Given the description of an element on the screen output the (x, y) to click on. 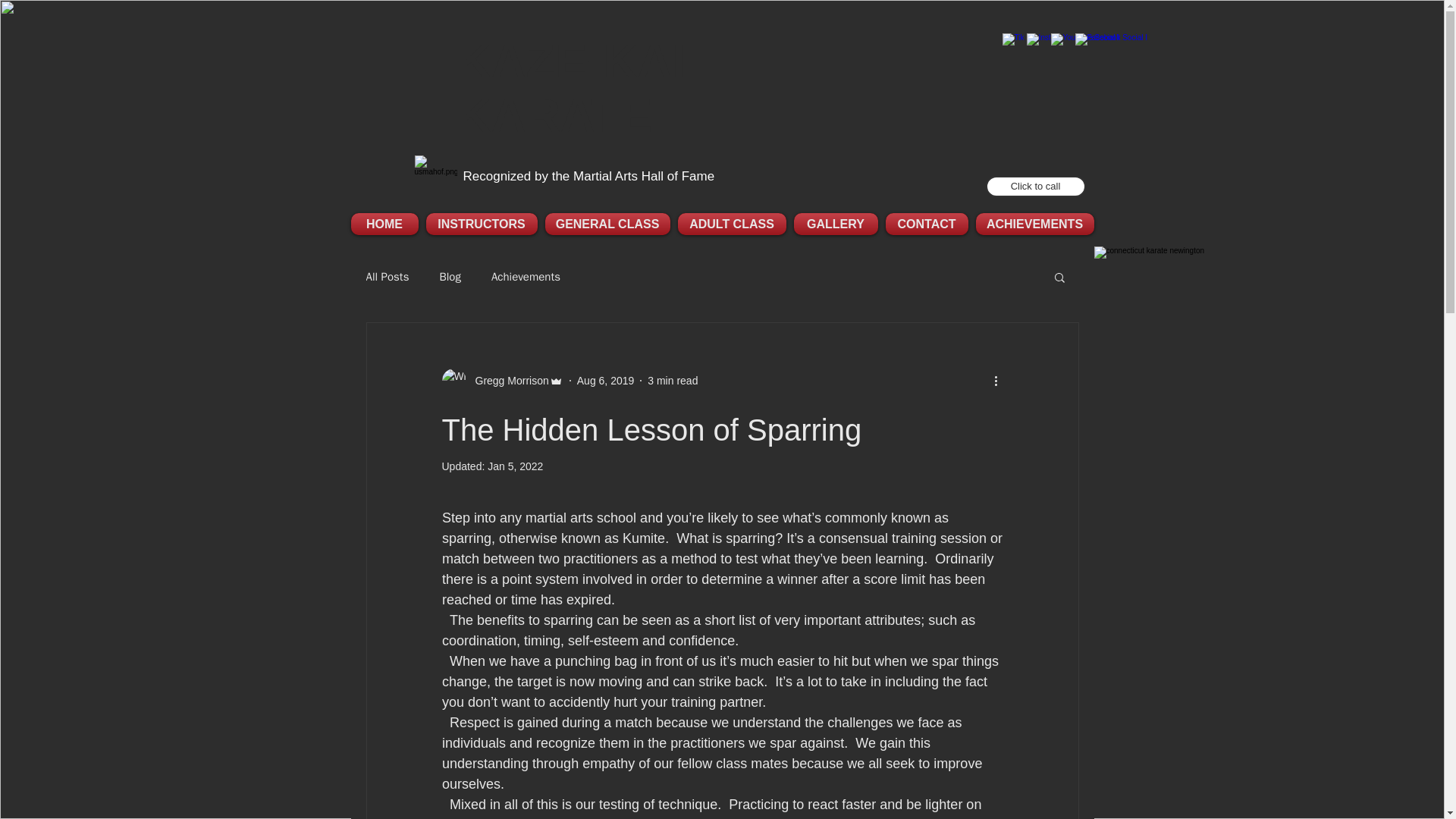
INSTRUCTORS (481, 223)
All Posts (387, 277)
Gregg Morrison (506, 381)
GALLERY (836, 223)
ACHIEVEMENTS (1033, 223)
Jan 5, 2022 (515, 466)
HOME (386, 223)
CONTACT (925, 223)
ADULT CLASS (730, 223)
3 min read (672, 380)
